Given the description of an element on the screen output the (x, y) to click on. 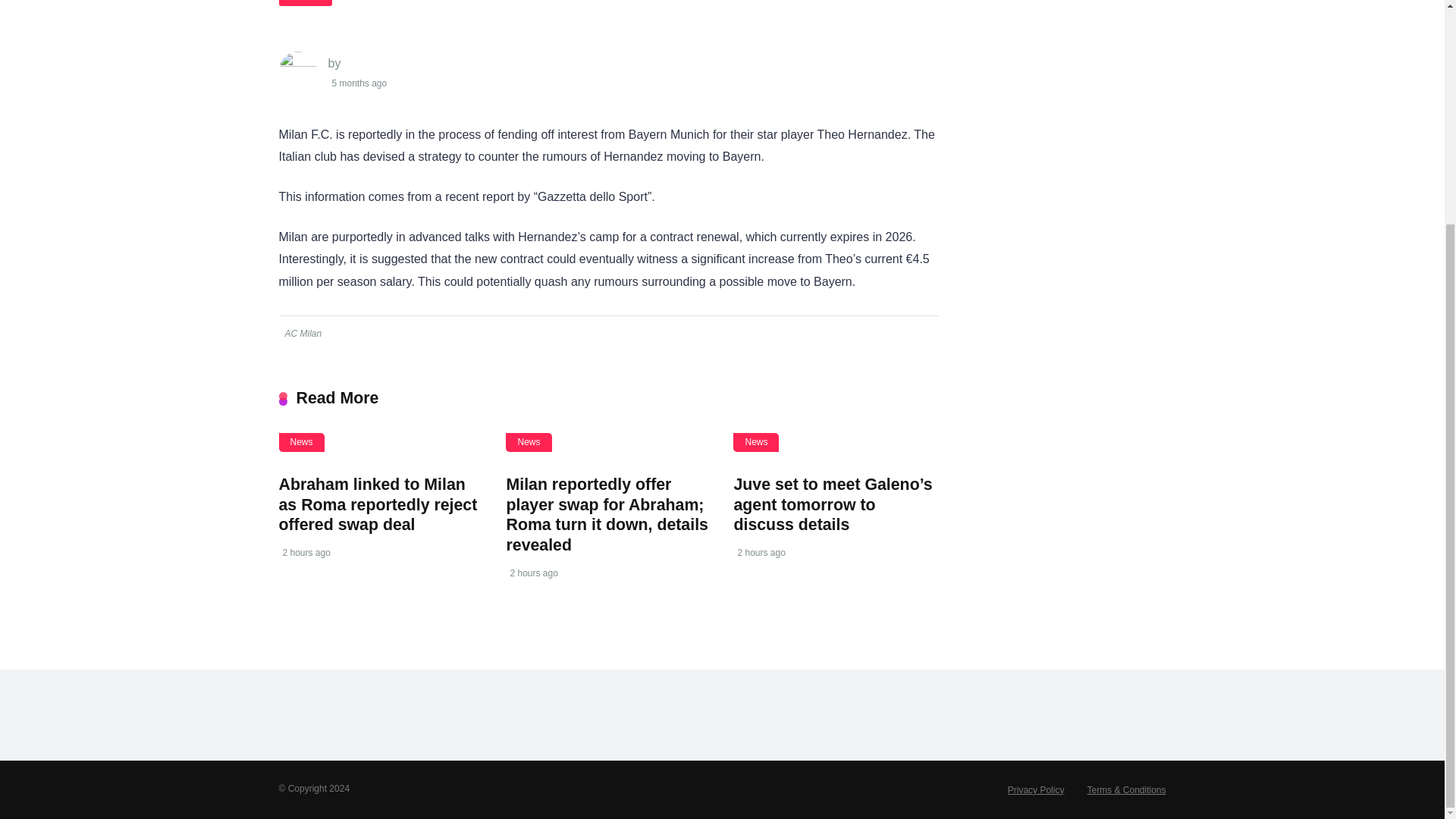
AC Milan (301, 333)
News (301, 442)
News (755, 442)
News (305, 2)
Privacy Policy (1035, 789)
News (528, 442)
